Given the description of an element on the screen output the (x, y) to click on. 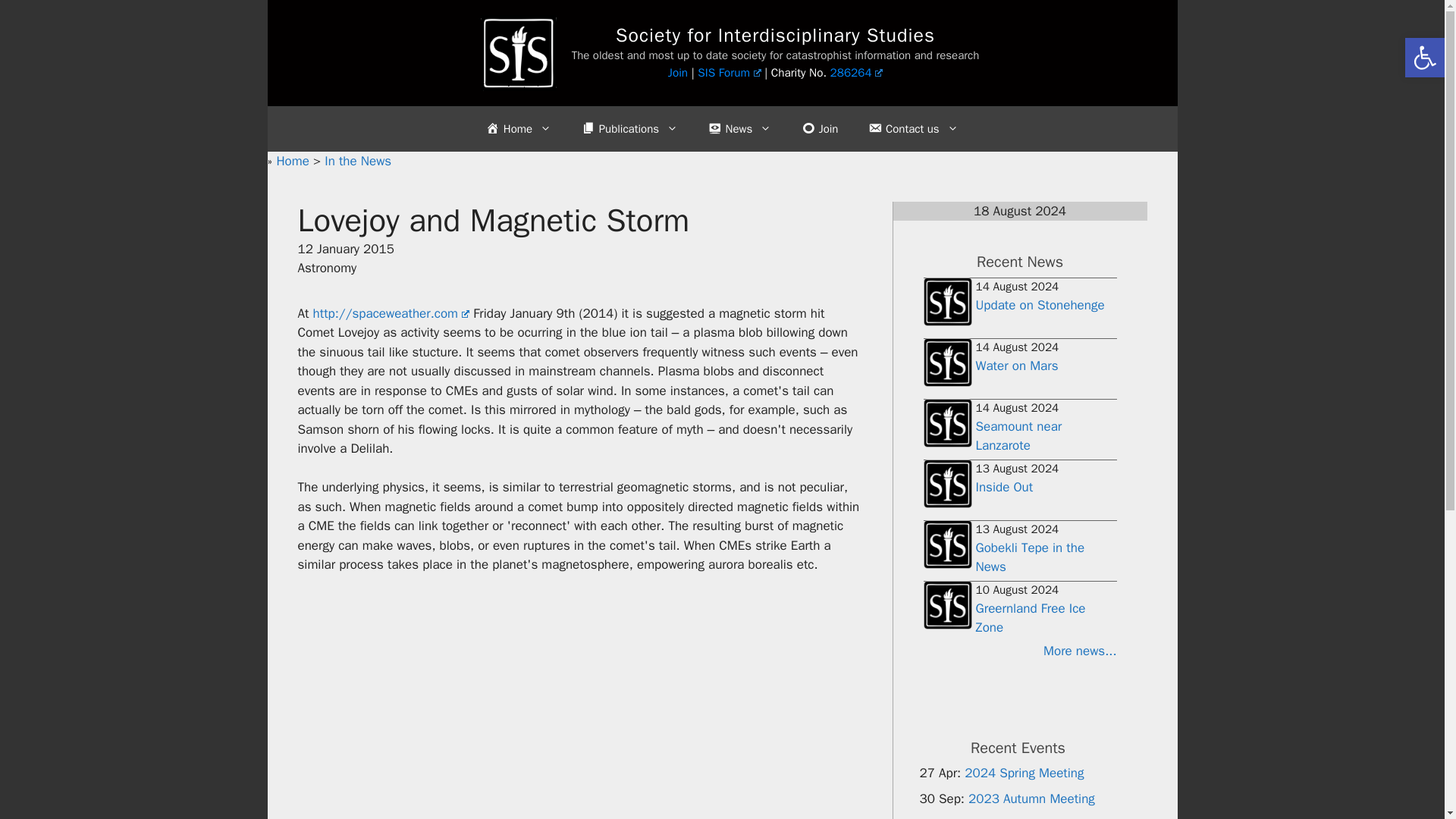
Home (294, 160)
286264 (856, 72)
Contact us (912, 128)
Society for Interdisciplinary Studies (774, 34)
Home (518, 128)
Join (677, 72)
Publications (629, 128)
Accessibility Tools (1424, 57)
Join (819, 128)
SIS Forum (728, 72)
